Given the description of an element on the screen output the (x, y) to click on. 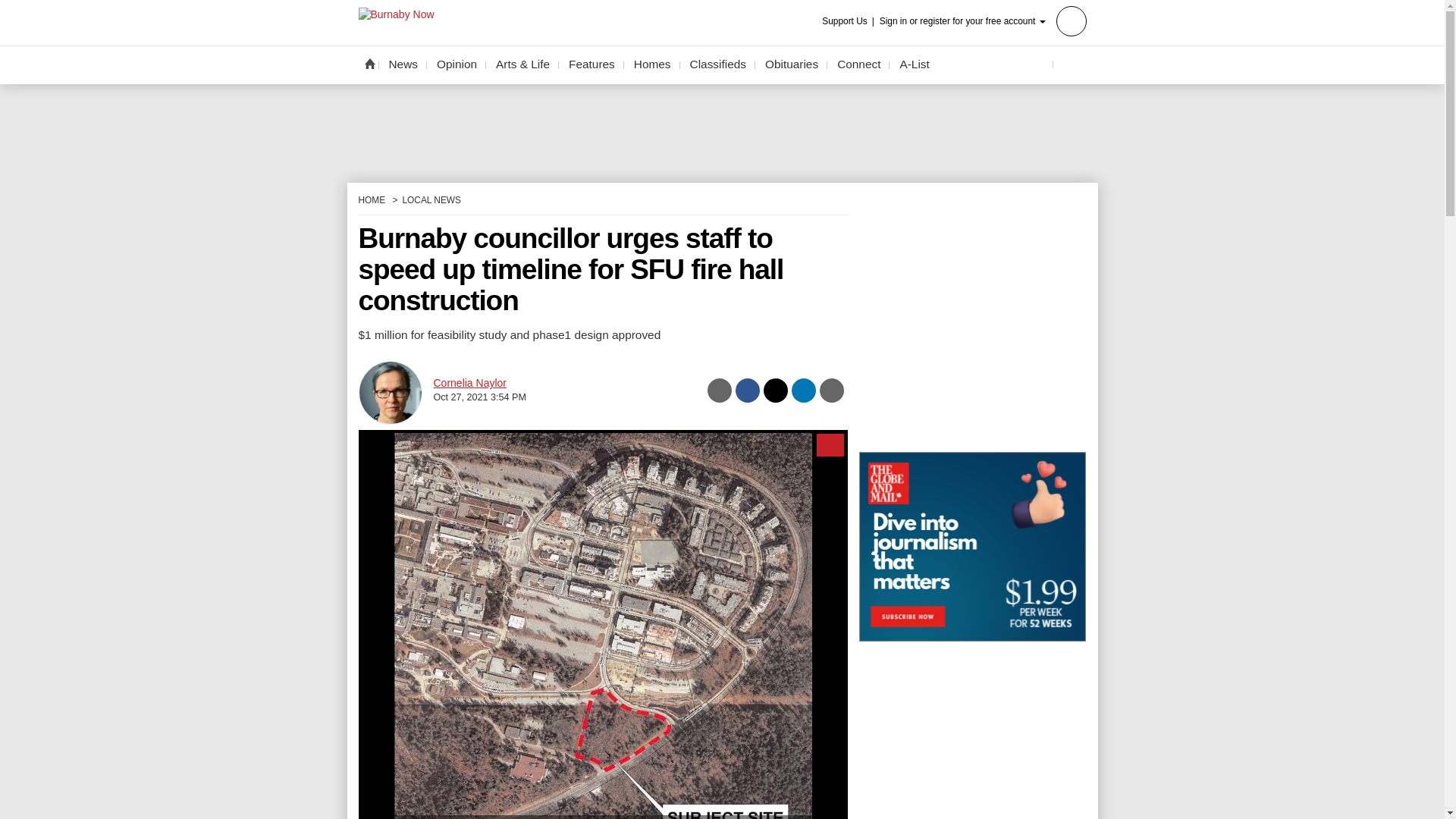
Opinion (456, 64)
Home (368, 63)
Sign in or register for your free account (982, 20)
Support Us (849, 21)
News (403, 64)
Expand (829, 445)
